Given the description of an element on the screen output the (x, y) to click on. 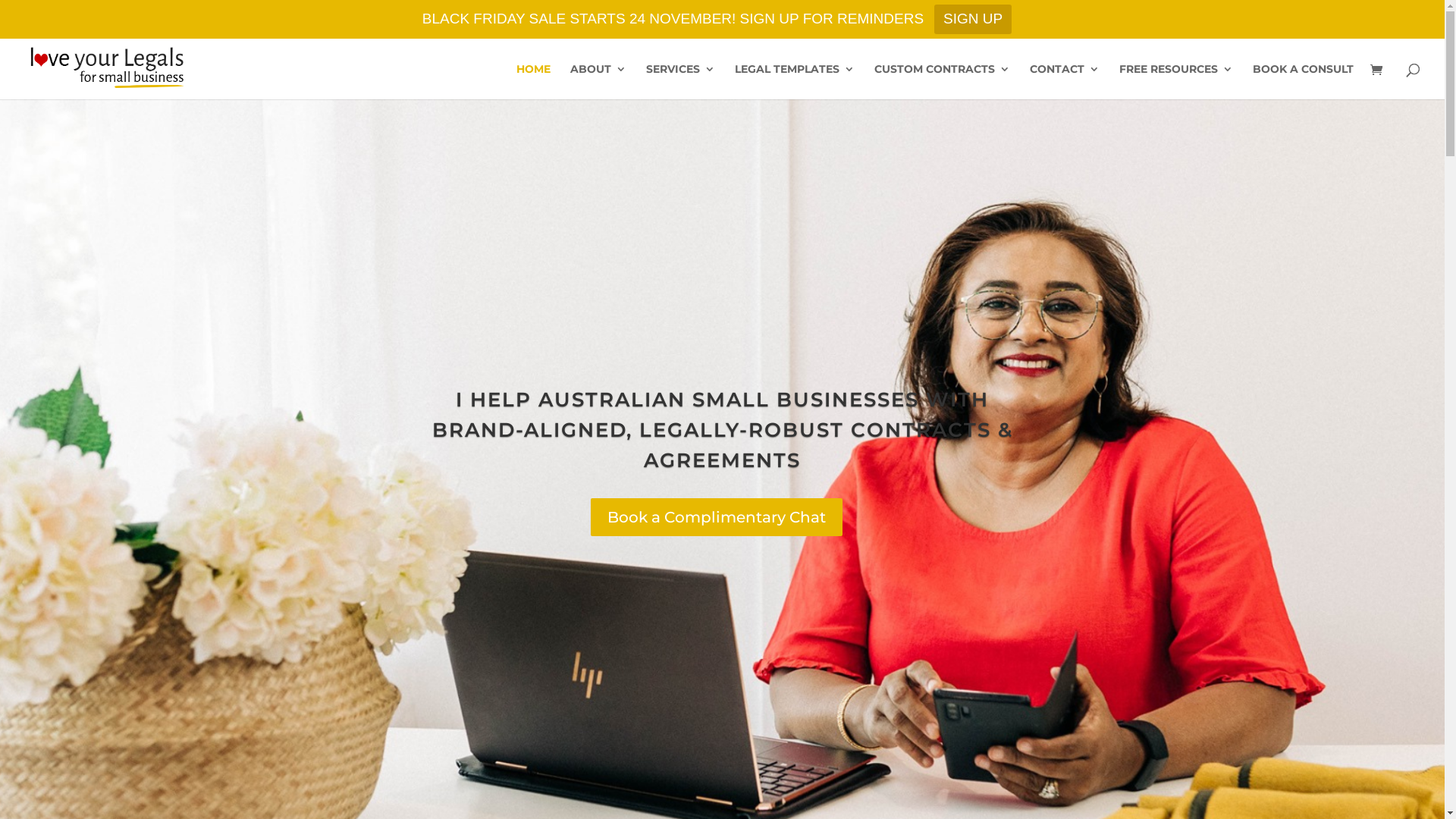
SERVICES Element type: text (680, 81)
Book a Complimentary Chat Element type: text (716, 517)
CUSTOM CONTRACTS Element type: text (942, 81)
HOME Element type: text (533, 81)
ABOUT Element type: text (598, 81)
SIGN UP Element type: text (972, 19)
FREE RESOURCES Element type: text (1176, 81)
CONTACT Element type: text (1064, 81)
BOOK A CONSULT Element type: text (1302, 81)
LEGAL TEMPLATES Element type: text (794, 81)
